Given the description of an element on the screen output the (x, y) to click on. 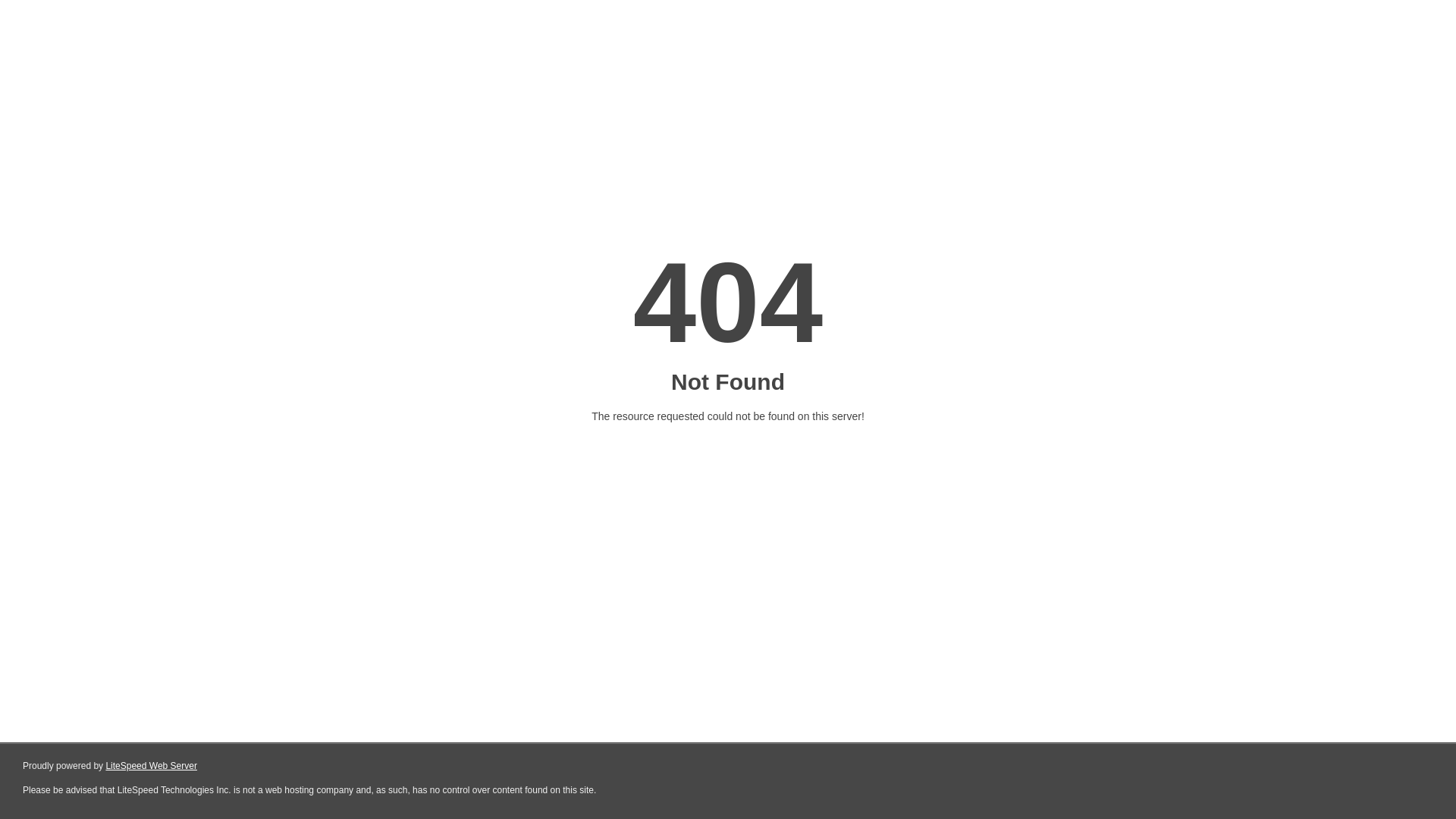
LiteSpeed Web Server Element type: text (151, 765)
